Given the description of an element on the screen output the (x, y) to click on. 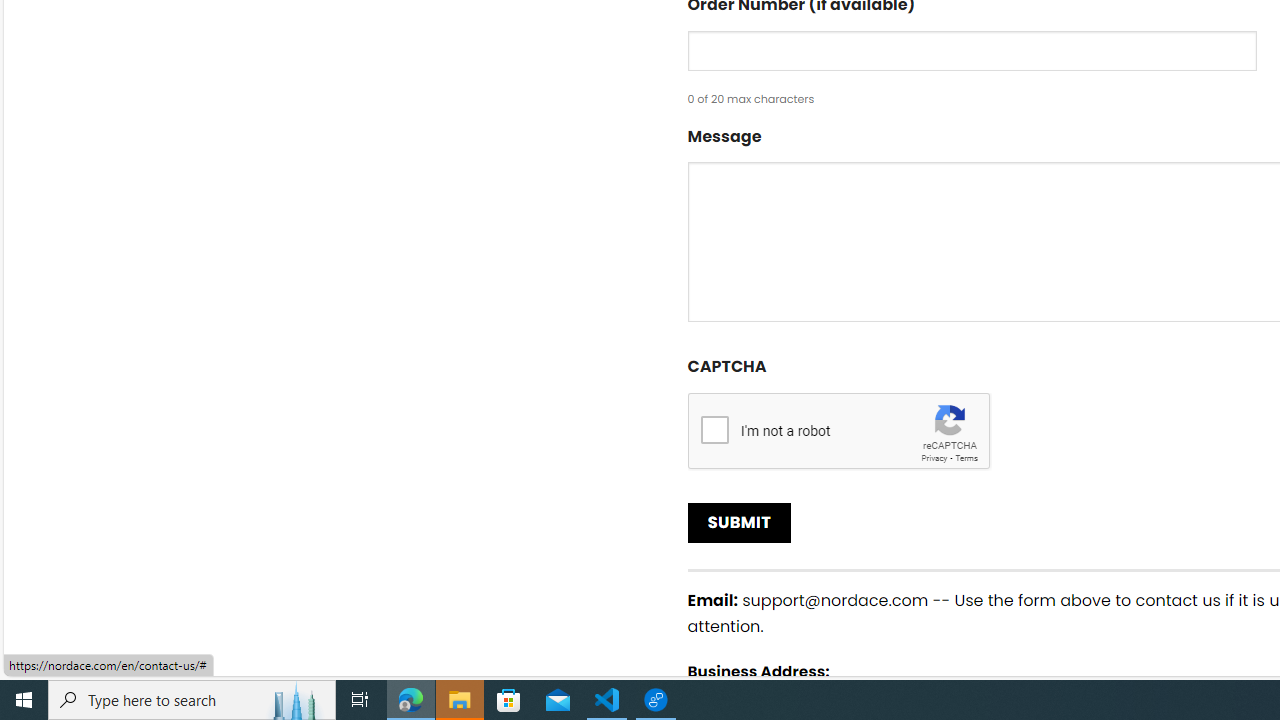
I'm not a robot (714, 429)
Terms (966, 457)
Order Number (if available) (971, 50)
Submit (739, 522)
Privacy (934, 457)
